Given the description of an element on the screen output the (x, y) to click on. 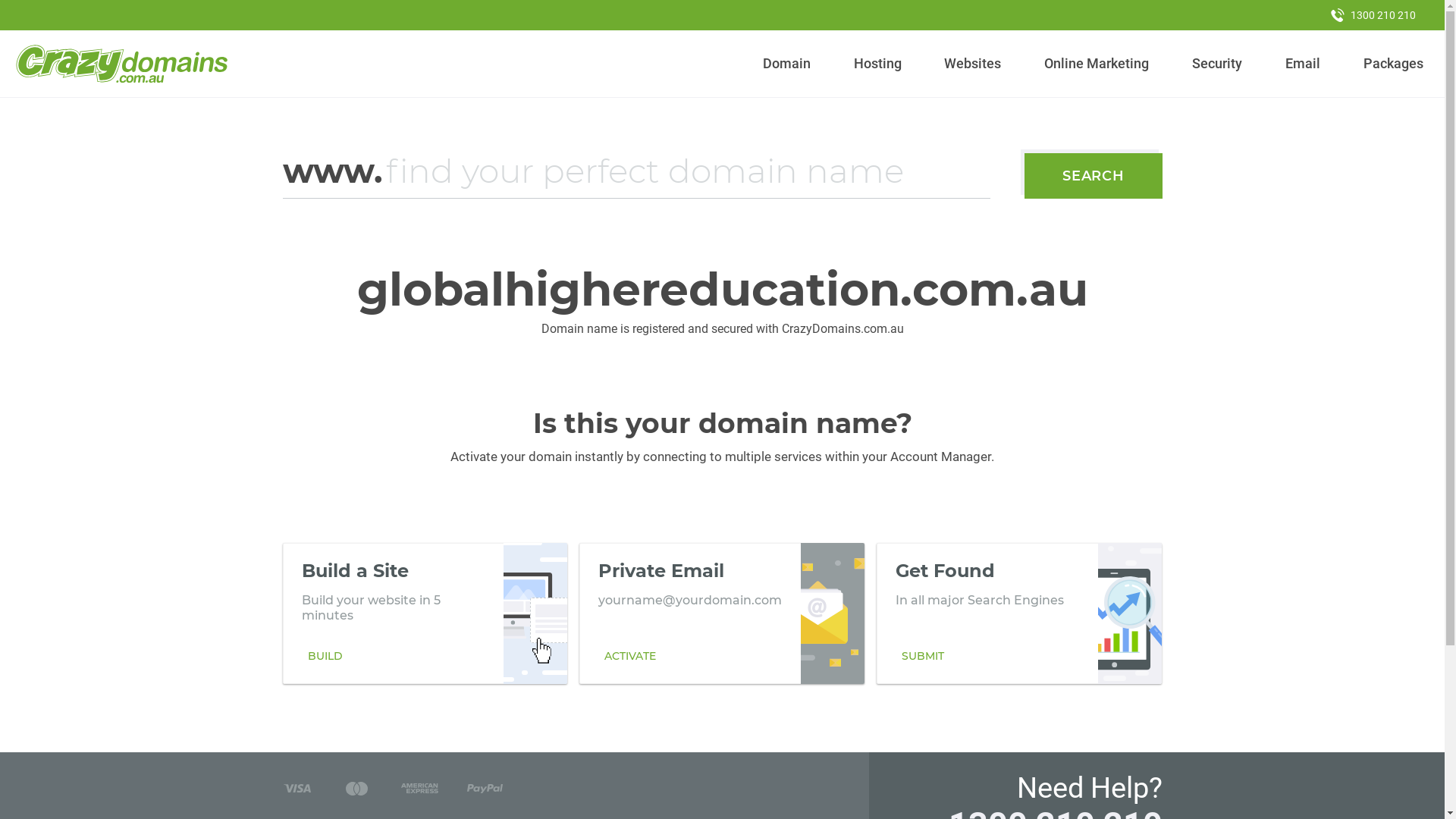
SEARCH Element type: text (1092, 175)
Packages Element type: text (1392, 63)
Hosting Element type: text (877, 63)
Private Email
yourname@yourdomain.com
ACTIVATE Element type: text (721, 613)
Security Element type: text (1217, 63)
Websites Element type: text (972, 63)
1300 210 210 Element type: text (1373, 15)
Build a Site
Build your website in 5 minutes
BUILD Element type: text (424, 613)
Email Element type: text (1302, 63)
Get Found
In all major Search Engines
SUBMIT Element type: text (1018, 613)
Online Marketing Element type: text (1096, 63)
Domain Element type: text (786, 63)
